Given the description of an element on the screen output the (x, y) to click on. 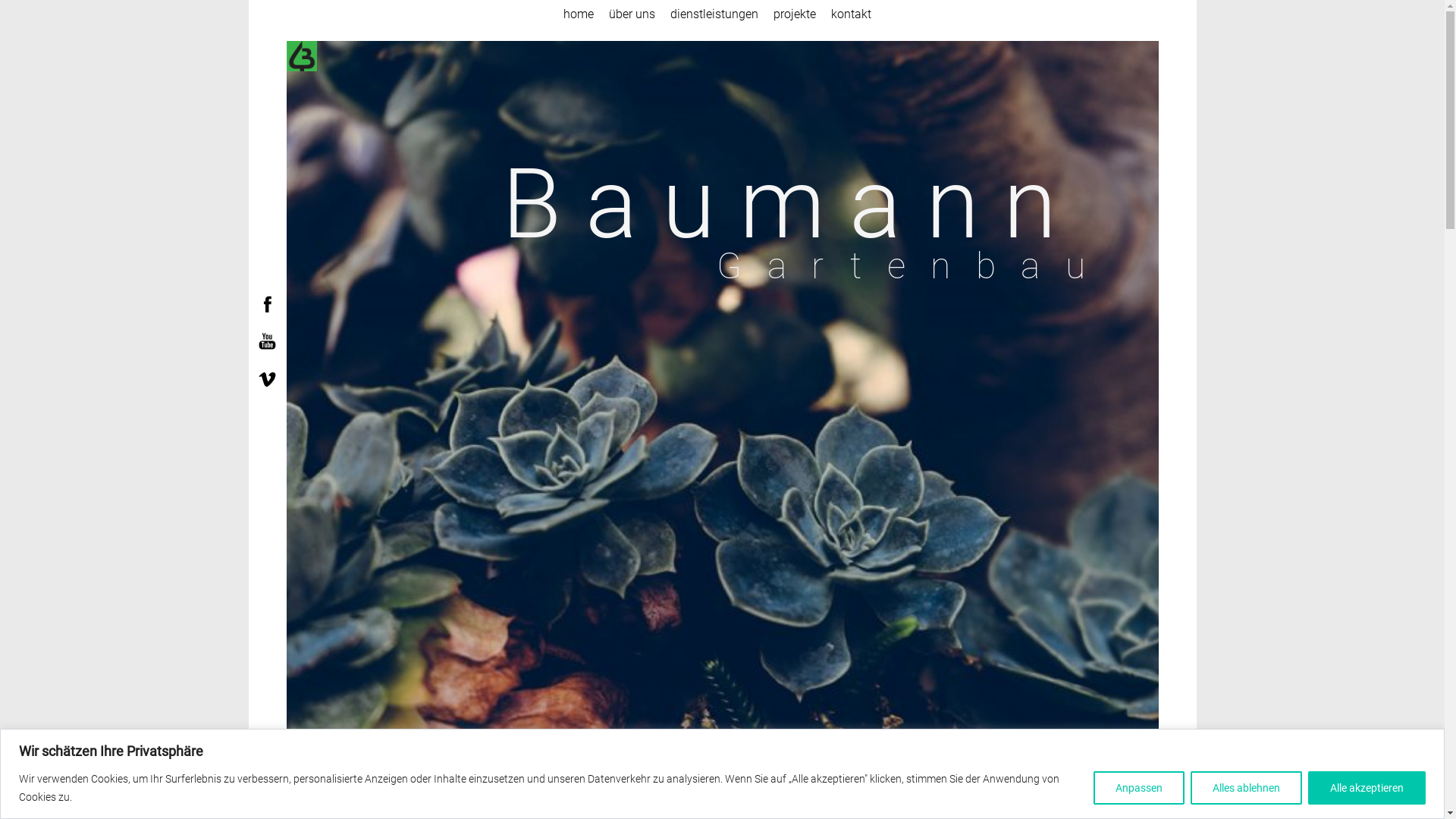
dienstleistungen Element type: text (714, 13)
Alle akzeptieren Element type: text (1366, 786)
home Element type: text (577, 13)
projekte Element type: text (794, 13)
Anpassen Element type: text (1138, 786)
kontakt Element type: text (851, 13)
Alles ablehnen Element type: text (1246, 786)
